Given the description of an element on the screen output the (x, y) to click on. 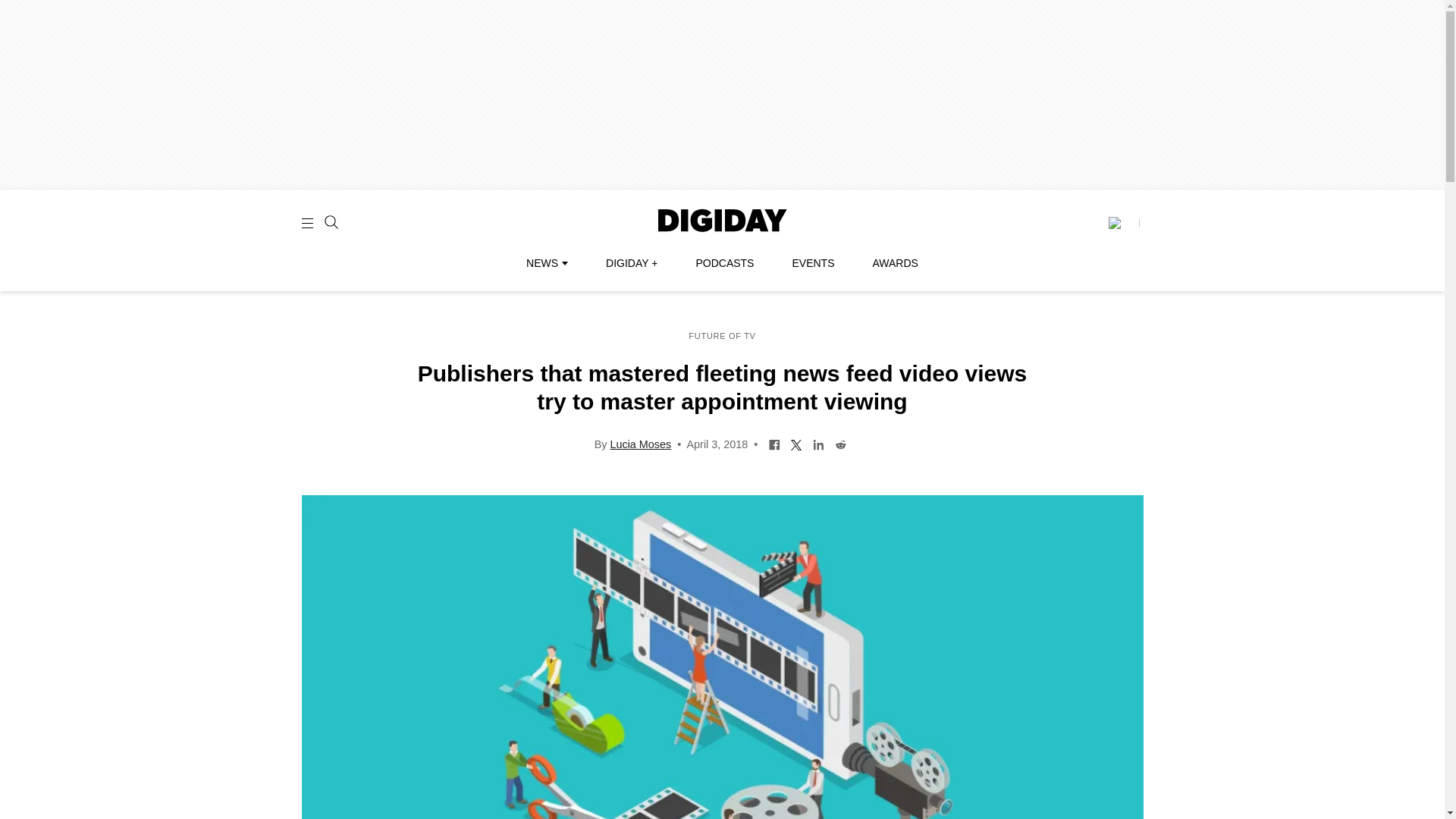
Share on LinkedIn (818, 443)
EVENTS (813, 262)
Share on Reddit (840, 443)
NEWS (546, 262)
AWARDS (894, 262)
Subscribe (1123, 223)
PODCASTS (725, 262)
Share on Facebook (774, 443)
Share on Twitter (796, 443)
